Given the description of an element on the screen output the (x, y) to click on. 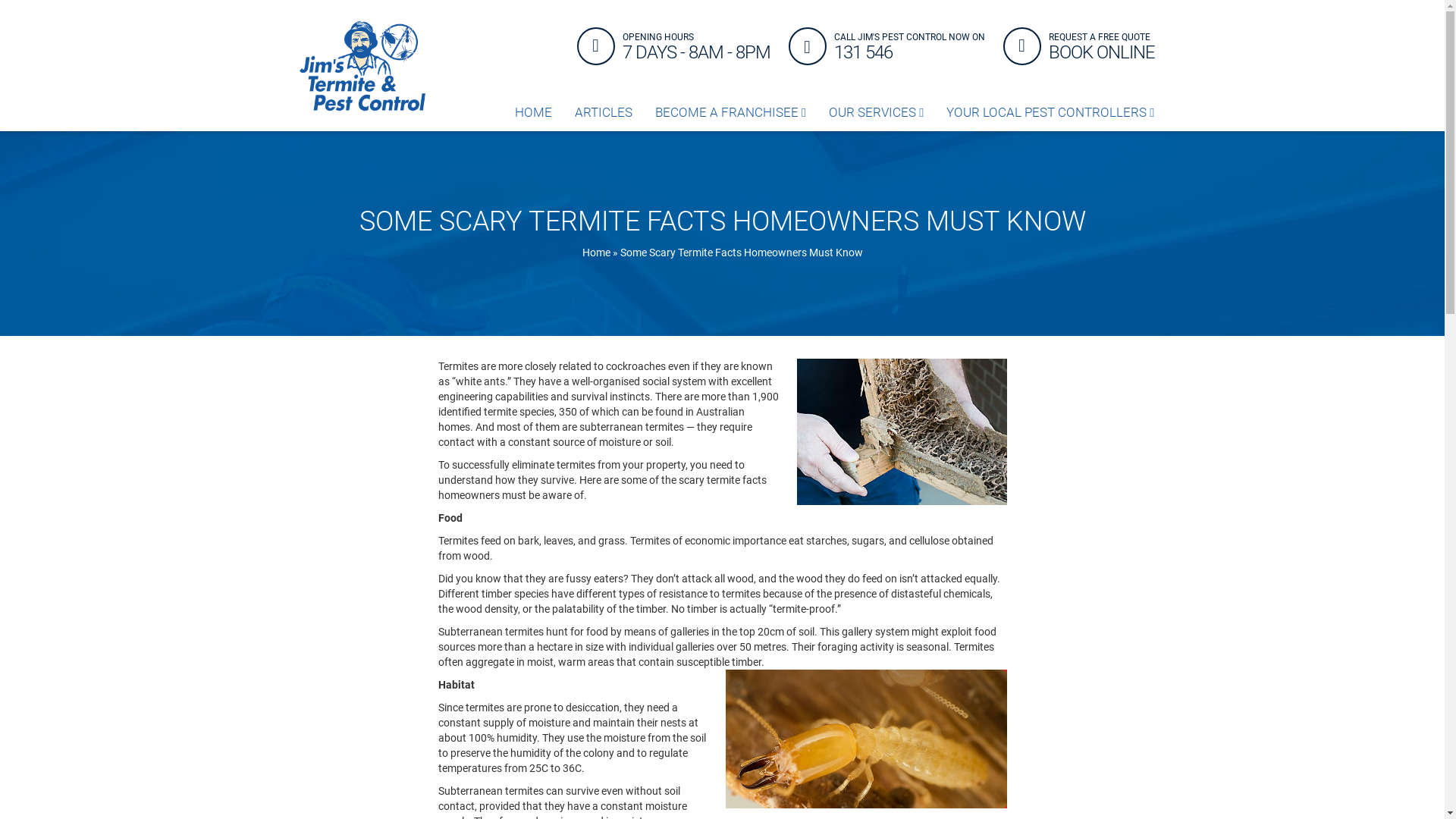
jpc-main-logo Element type: hover (361, 65)
OUR SERVICES Element type: text (876, 112)
HOME Element type: text (533, 112)
ARTICLES Element type: text (603, 112)
YOUR LOCAL PEST CONTROLLERS Element type: text (1050, 112)
Home Element type: text (596, 252)
BECOME A FRANCHISEE Element type: text (730, 112)
